Given the description of an element on the screen output the (x, y) to click on. 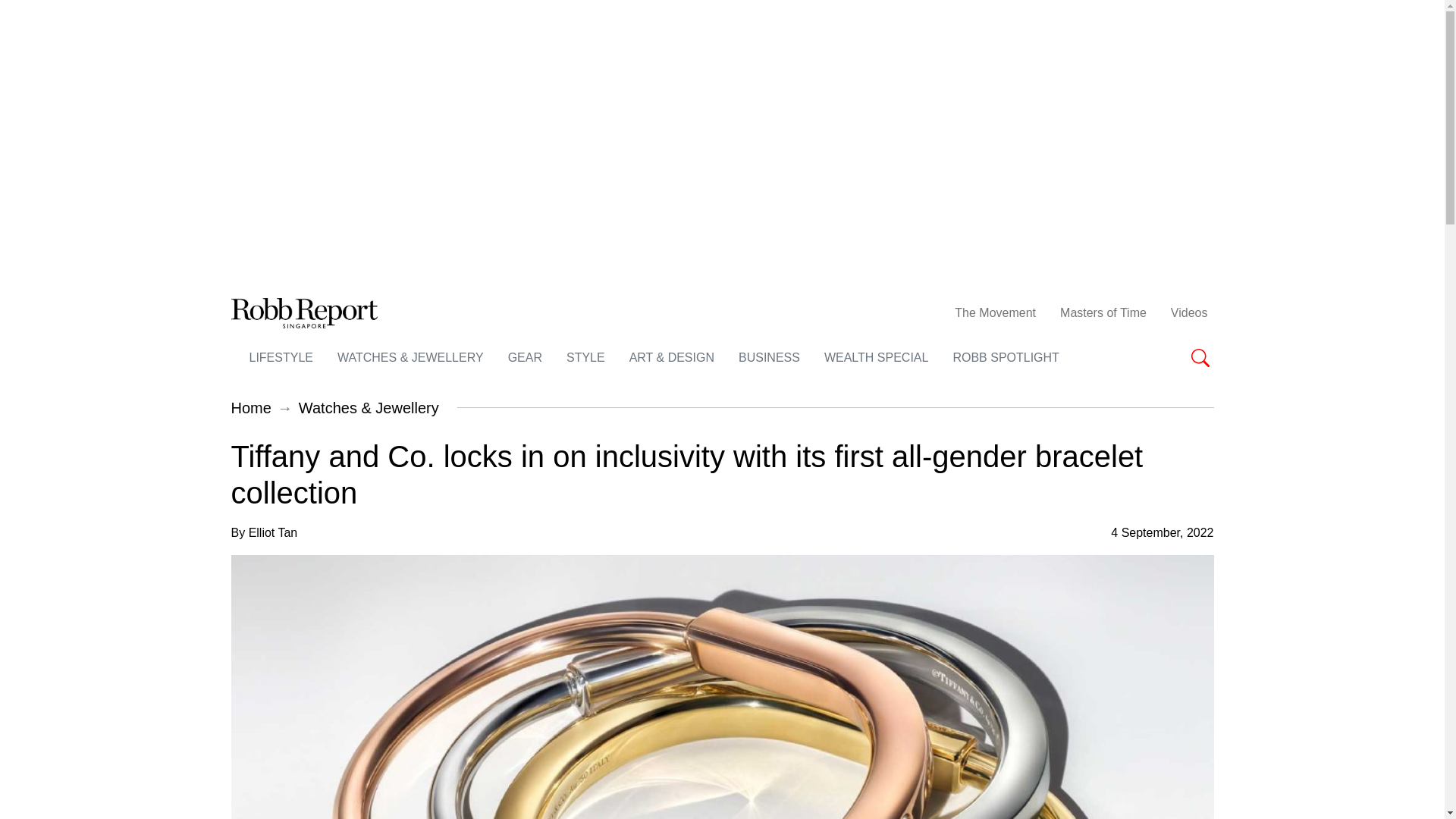
BUSINESS (769, 357)
STYLE (585, 357)
GEAR (525, 357)
LIFESTYLE (280, 357)
Videos (1189, 313)
Masters of Time (1103, 313)
The Movement (995, 313)
